Given the description of an element on the screen output the (x, y) to click on. 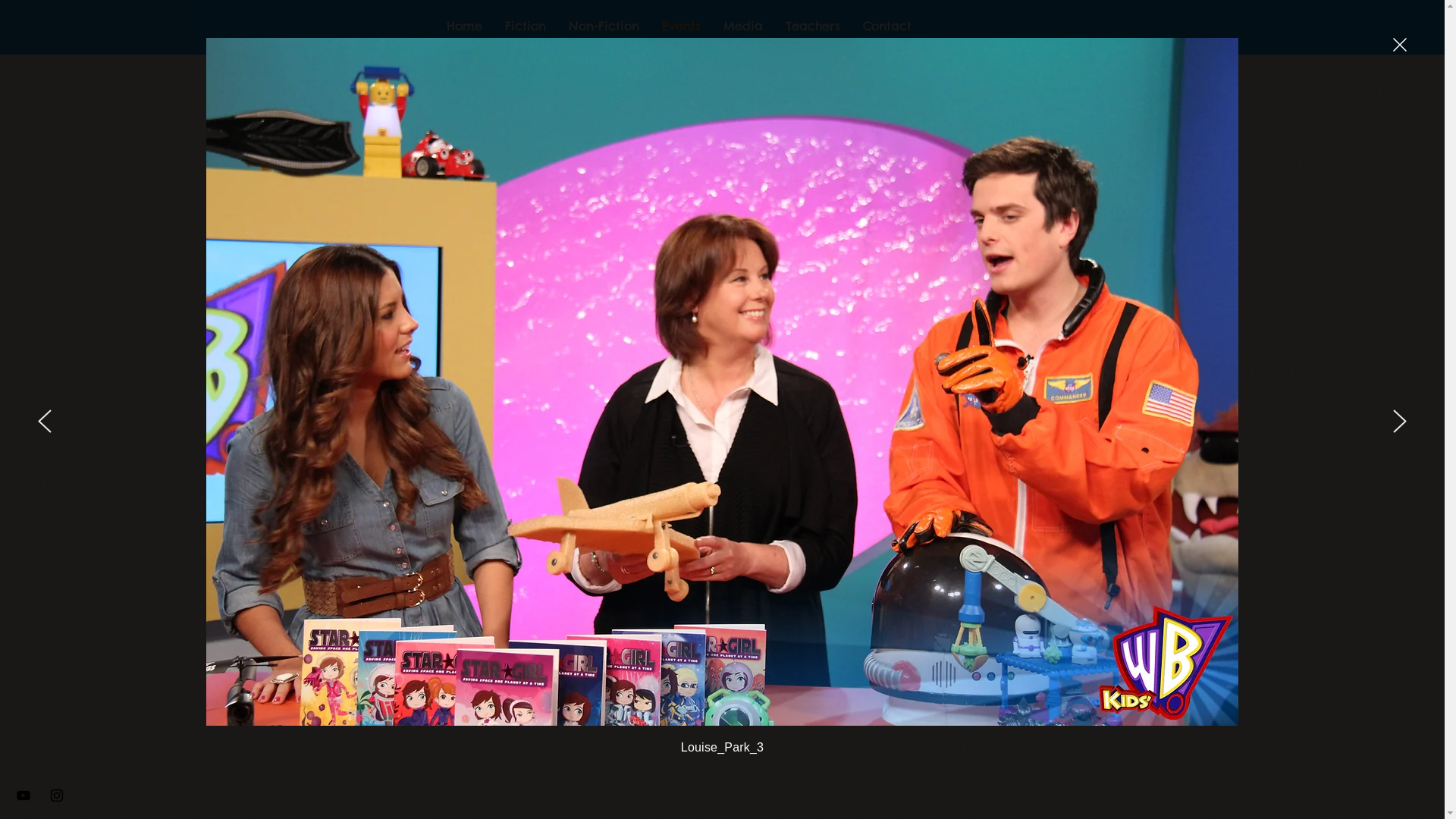
Contact Element type: text (886, 25)
www.bookedout.com.au Element type: text (931, 492)
info@cktspeakersagency.com.au Element type: text (990, 463)
Events Element type: text (681, 25)
Teachers Element type: text (812, 25)
Home Element type: text (464, 25)
Visitor Analytics Element type: hover (1442, 4)
Non-Fiction Element type: text (603, 25)
Refresh this page Element type: text (676, 696)
Media Element type: text (743, 25)
Fiction Element type: text (525, 25)
louise@louisepark.com.au Element type: text (930, 434)
Refresh this page Element type: text (686, 695)
Visitor Analytics Element type: hover (1077, 115)
